Given the description of an element on the screen output the (x, y) to click on. 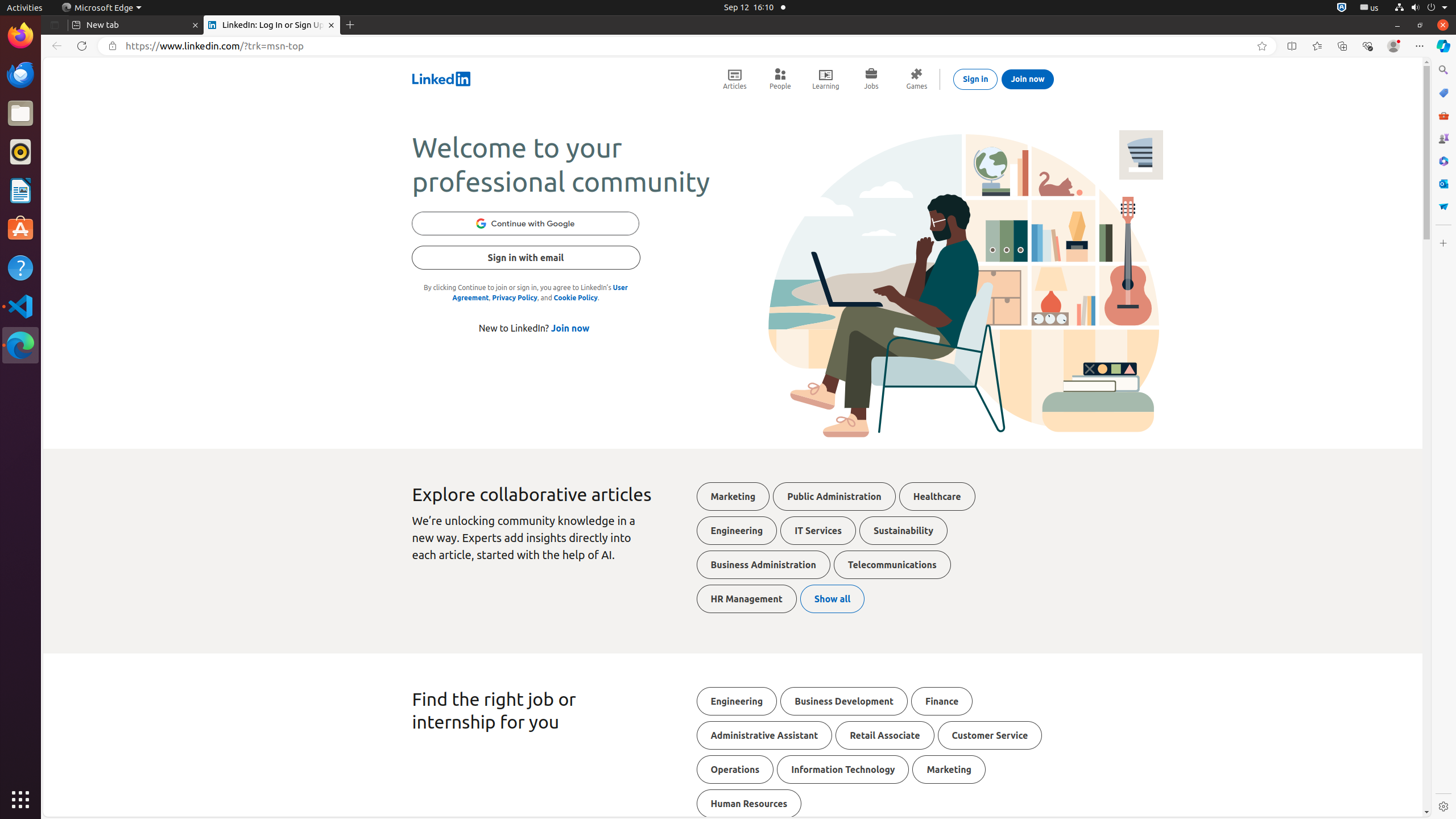
Telecommunications Element type: link (891, 564)
Copilot (Ctrl+Shift+.) Element type: push-button (1443, 45)
Microsoft Edge Element type: menu (101, 7)
Microsoft Edge Element type: push-button (20, 344)
Close tab Element type: push-button (195, 25)
